Given the description of an element on the screen output the (x, y) to click on. 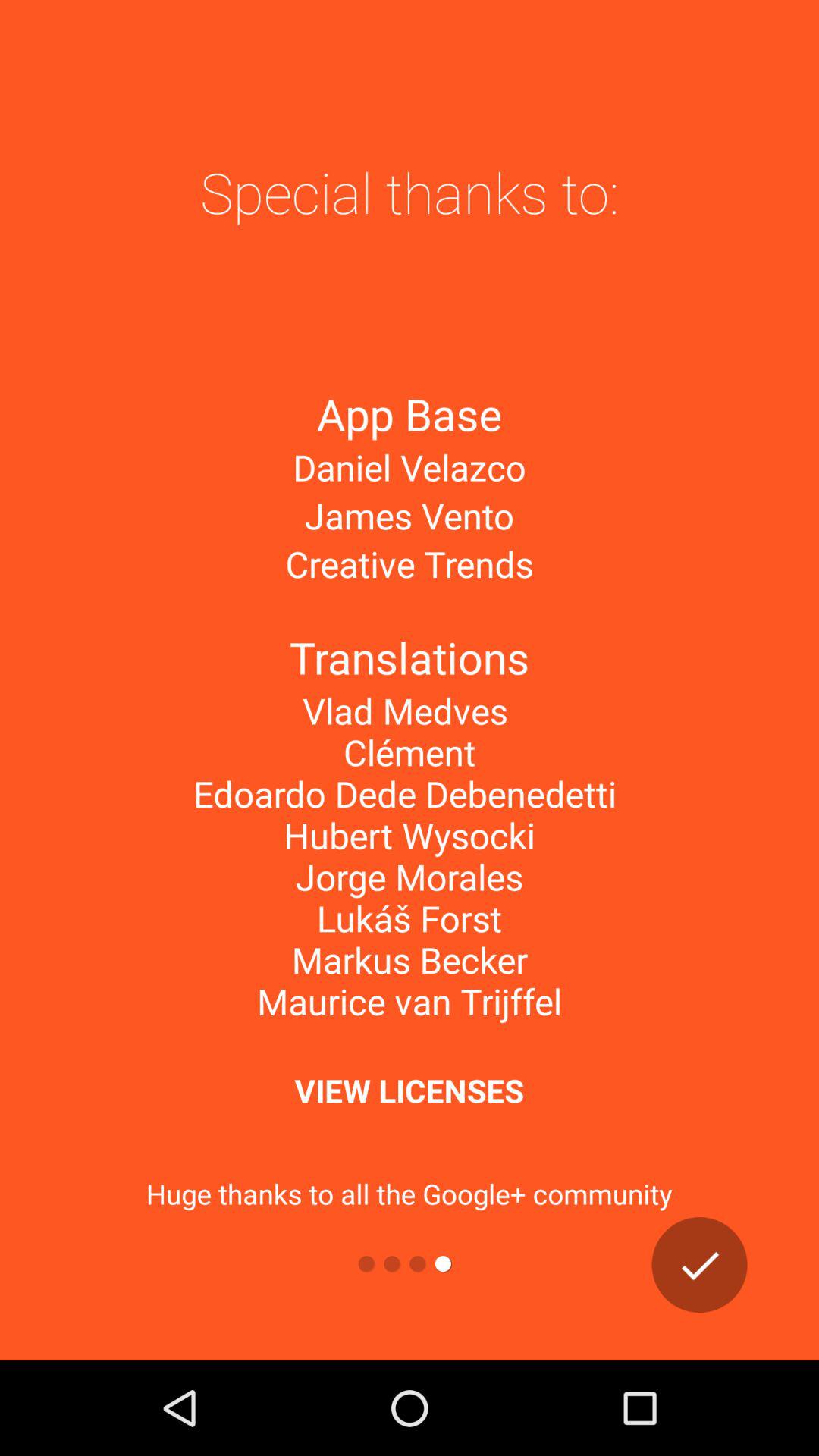
tap the item above the huge thanks to icon (409, 1090)
